Given the description of an element on the screen output the (x, y) to click on. 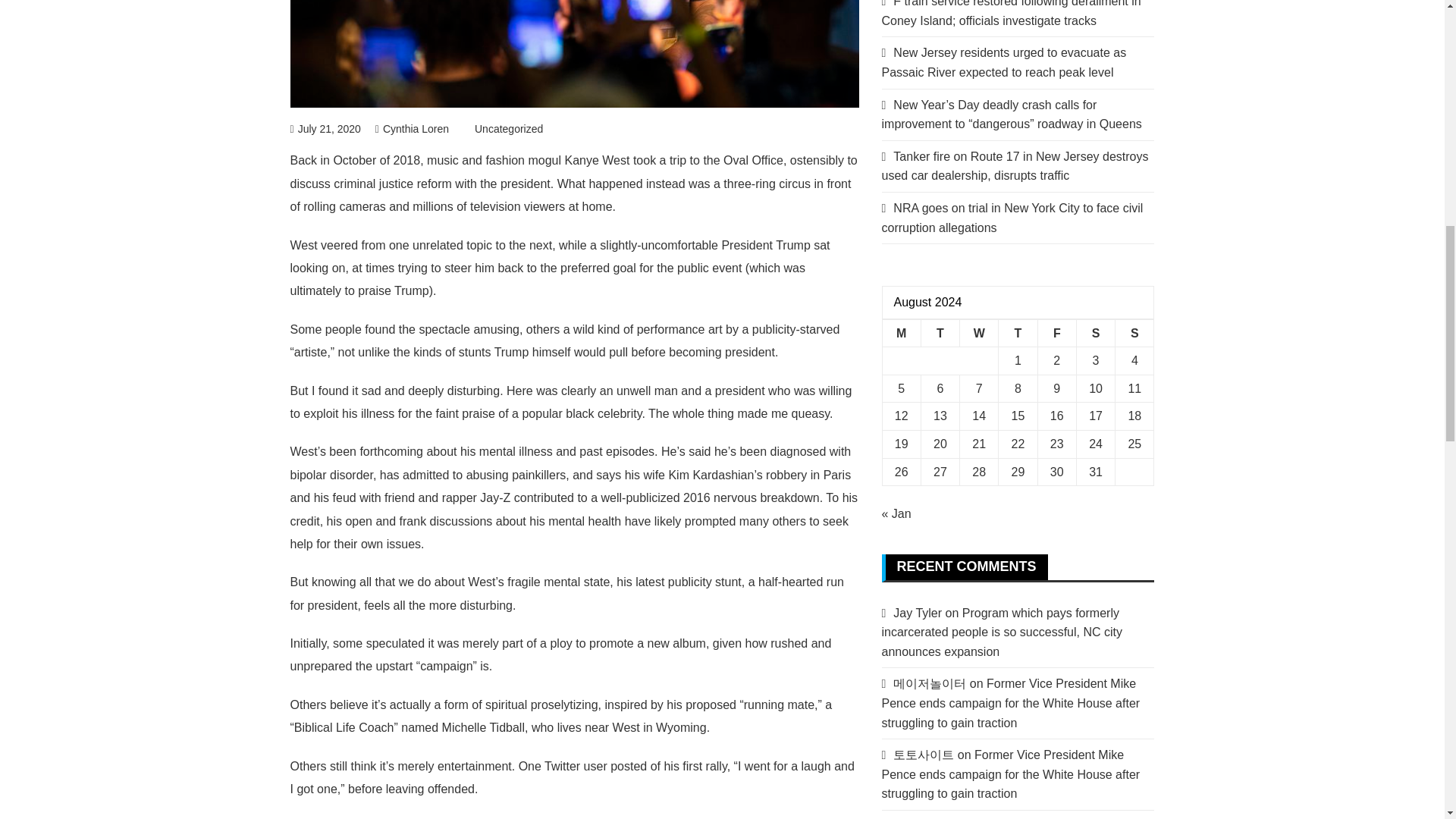
ostensibly to discuss criminal justice reform (573, 171)
2016 nervous breakdown (750, 497)
Michelle Tidball (483, 727)
Sunday (1134, 333)
forthcoming (391, 451)
Monday (901, 333)
Wednesday (978, 333)
